Given the description of an element on the screen output the (x, y) to click on. 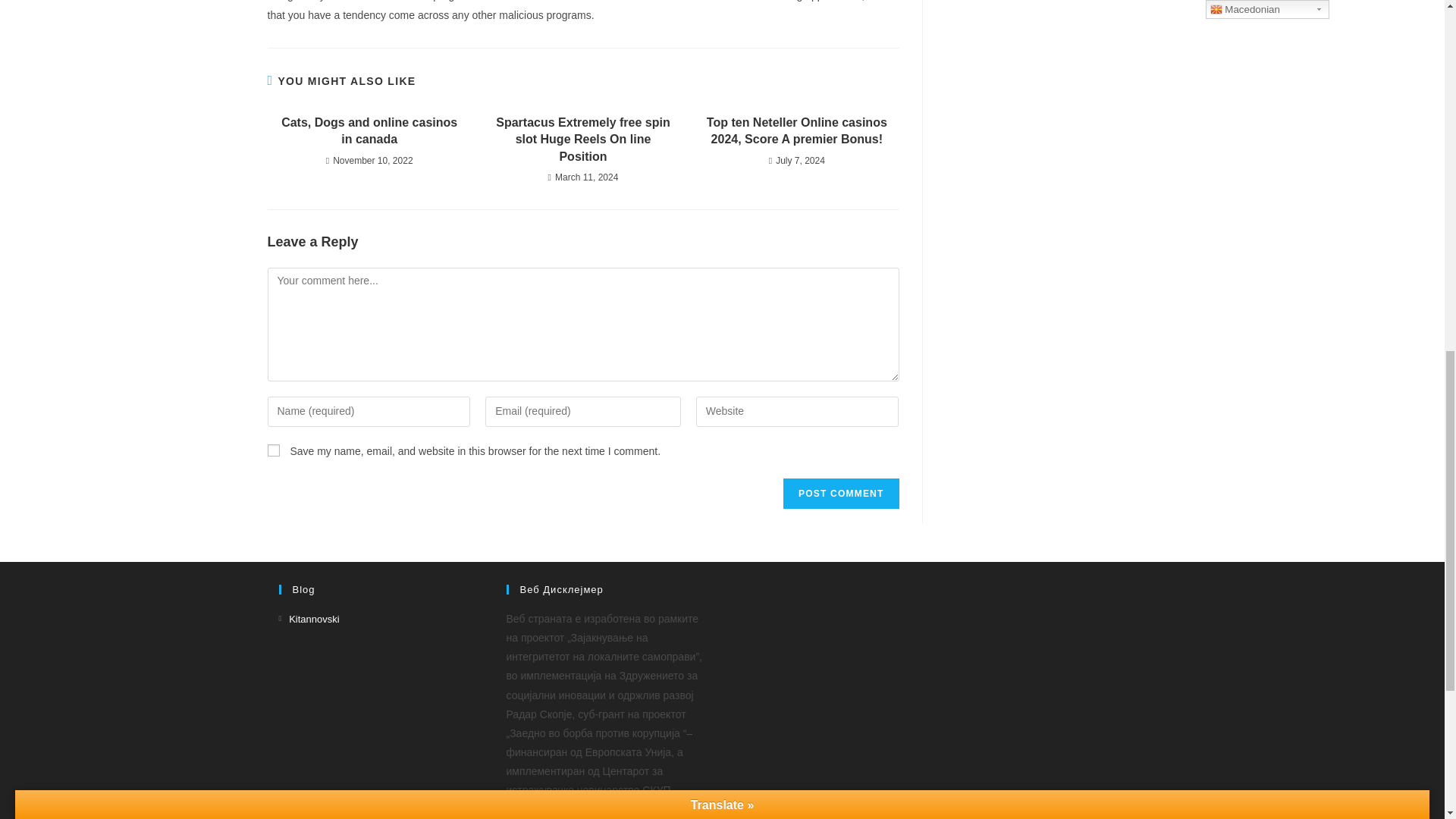
Top ten Neteller Online casinos 2024, Score A premier Bonus! (796, 131)
yes (272, 450)
Cats, Dogs and online casinos in canada (368, 131)
Post Comment (840, 493)
Kitannovski (309, 619)
Post Comment (840, 493)
Top ten Neteller Online casinos 2024, Score A premier Bonus! (796, 131)
Cats, Dogs and online casinos in canada (368, 131)
